Given the description of an element on the screen output the (x, y) to click on. 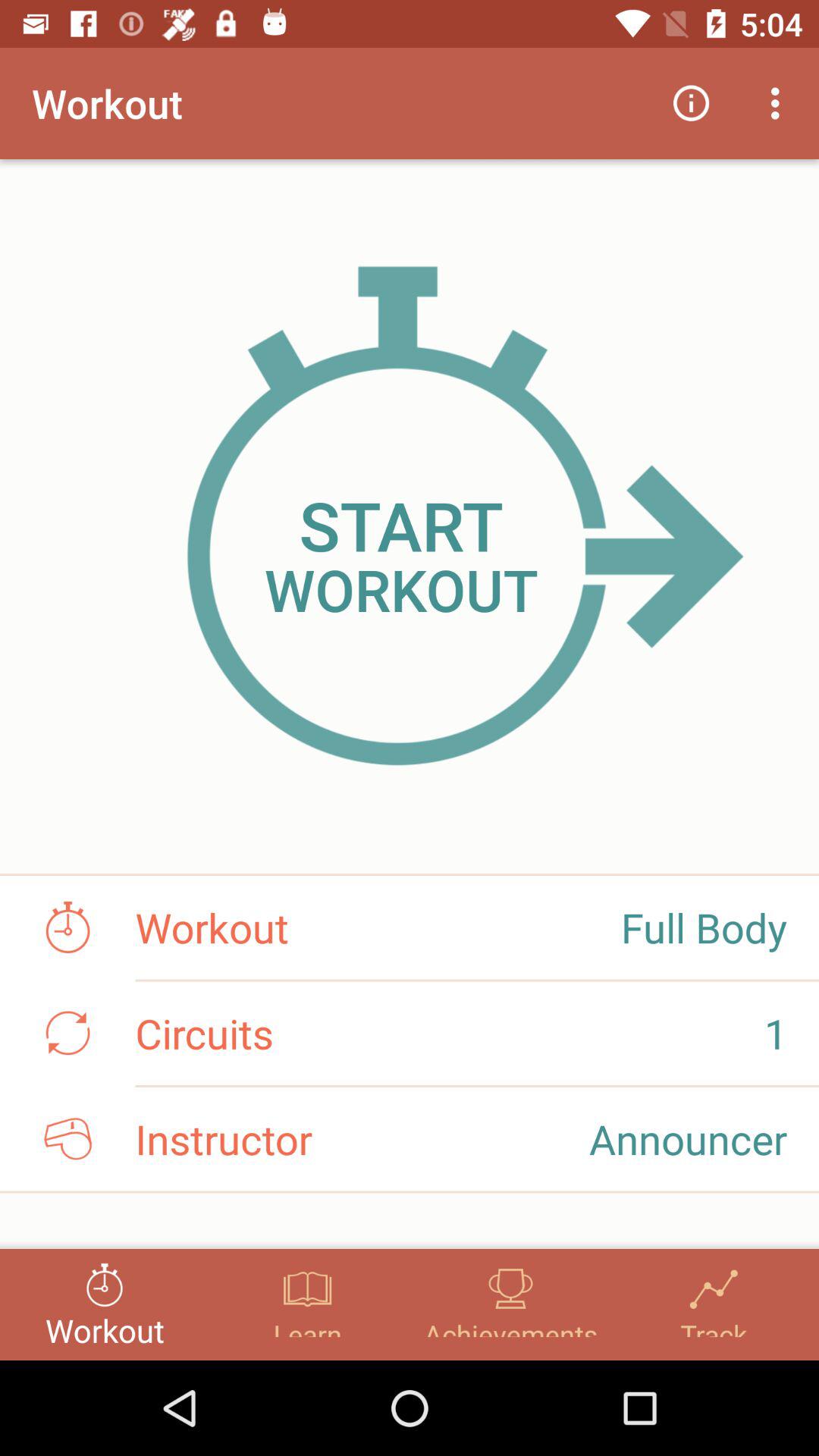
choose icon to the right of the workout (691, 103)
